Given the description of an element on the screen output the (x, y) to click on. 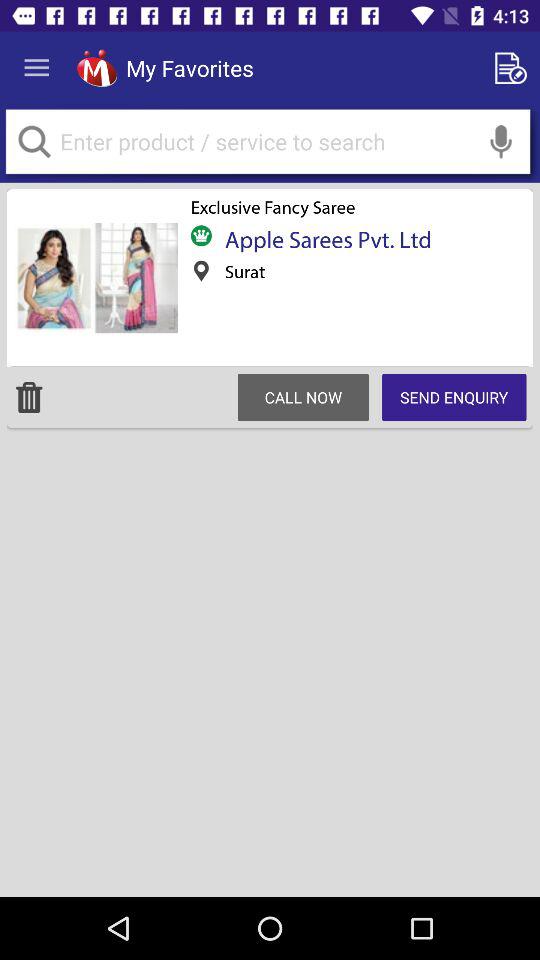
press the item below exclusive fancy saree (321, 239)
